Given the description of an element on the screen output the (x, y) to click on. 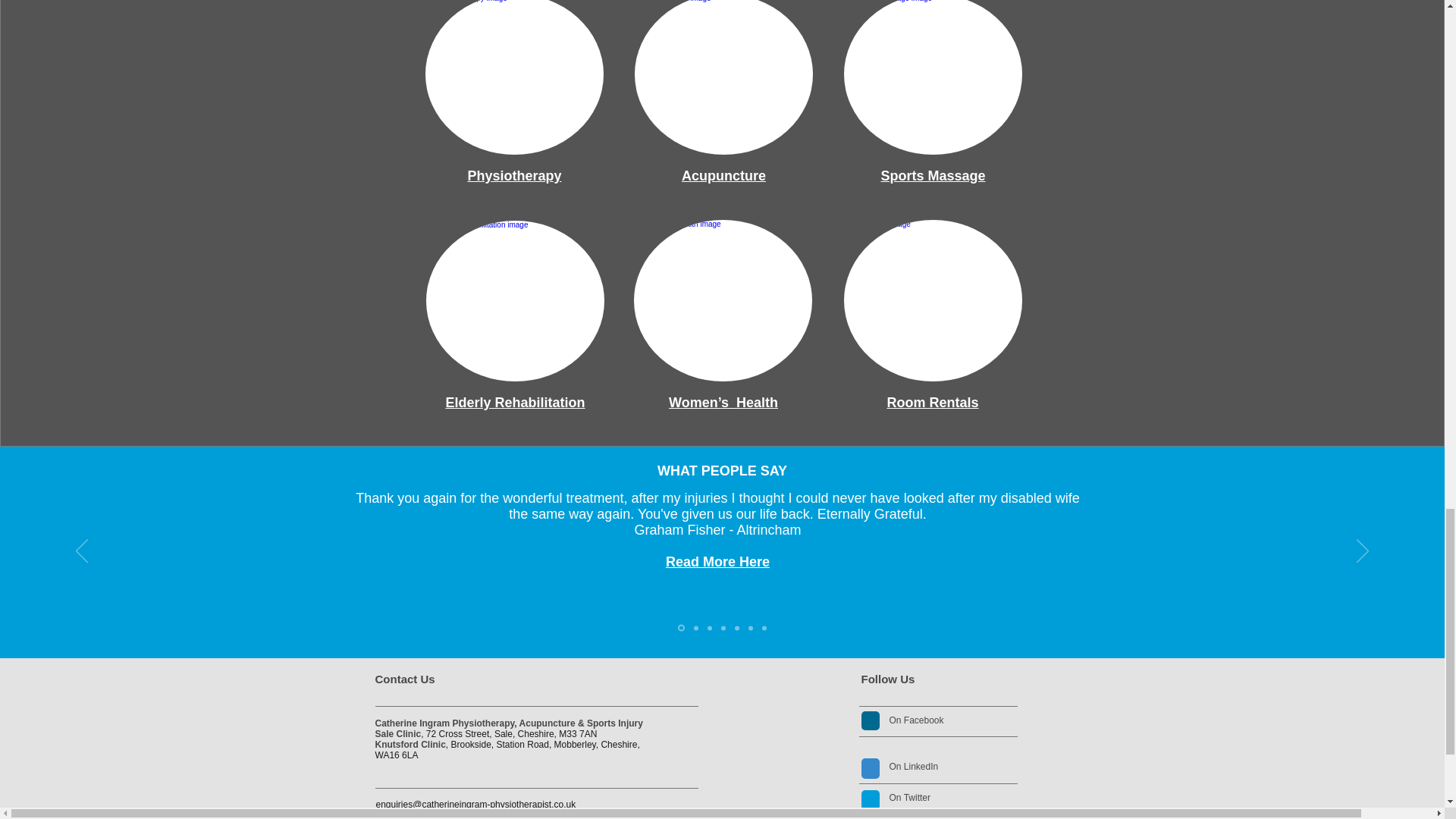
Sports Massage (932, 175)
Physiotherapy (513, 175)
Elderly Rehabilitation (515, 402)
Room Rentals (932, 402)
Acupuncture (723, 175)
Read More Here (717, 561)
